Given the description of an element on the screen output the (x, y) to click on. 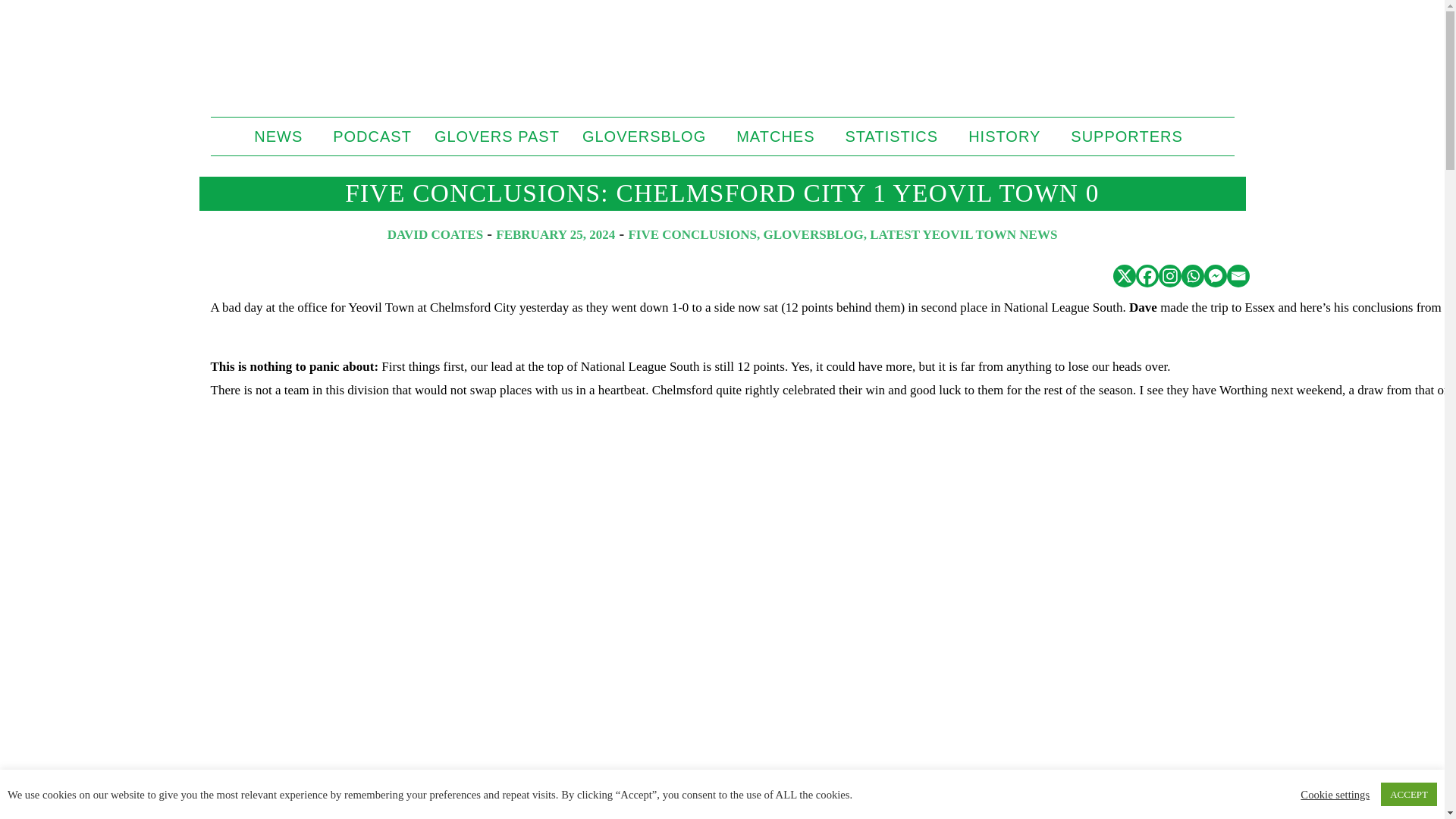
MATCHES (778, 136)
LATEST YEOVIL TOWN NEWS (963, 234)
Email (1238, 275)
Facebook (1146, 275)
DAVID COATES (435, 234)
X (1124, 275)
PODCAST (372, 136)
HISTORY (1007, 136)
Posts by David Coates (435, 234)
